Given the description of an element on the screen output the (x, y) to click on. 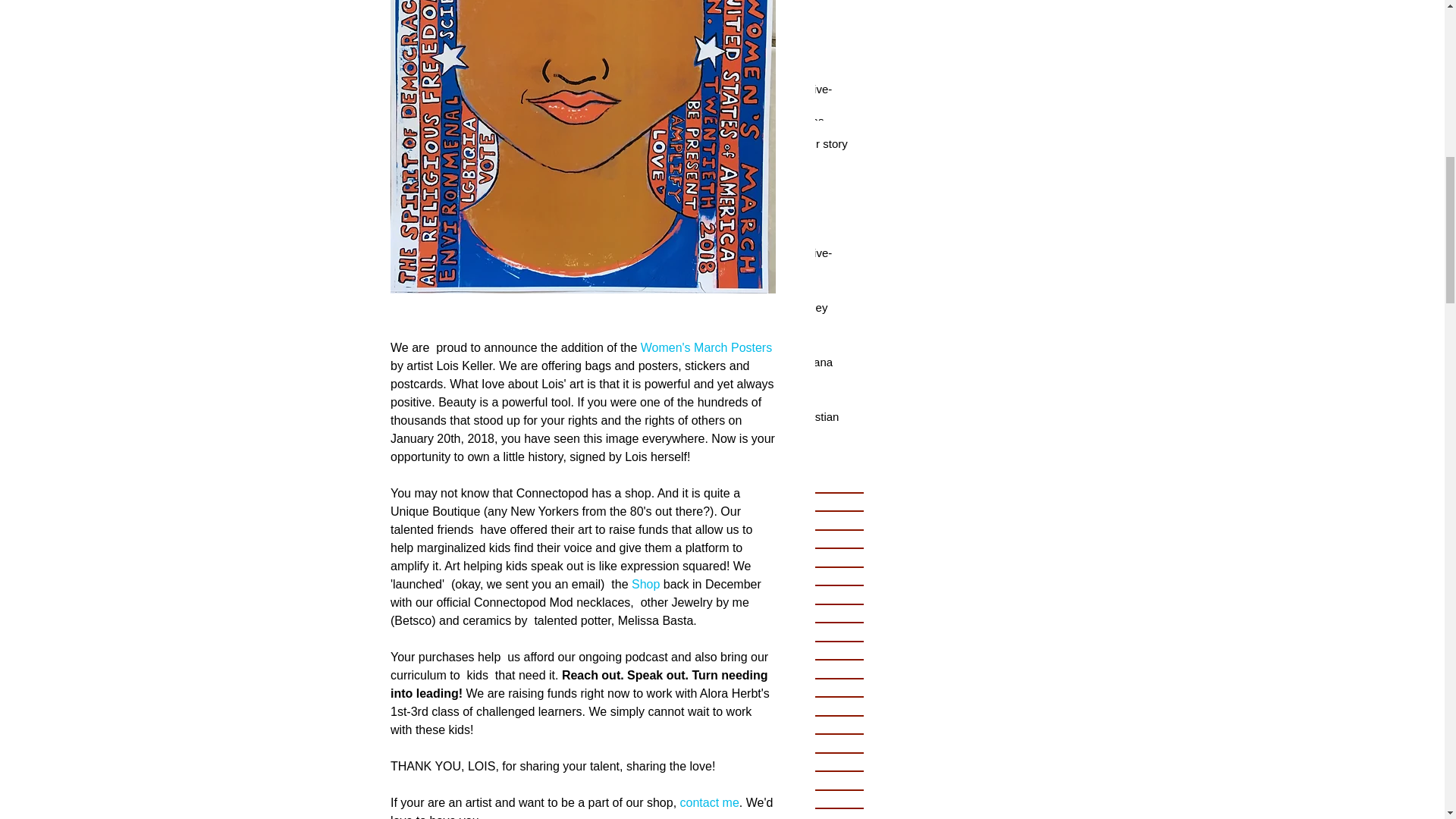
January 2020 (784, 520)
CTN-P What will your story be? (779, 154)
Changing the Narrative-Pacoima (779, 263)
Meet Our Intern Christian Martinez Ayala! (779, 427)
February 2019 (784, 613)
Fight Club (779, 37)
Meet Our Intern Adriana Ramirez! (779, 372)
October 2019 (784, 557)
March 2020 (784, 483)
November 2019 (784, 538)
March 2019 (784, 594)
Meet Our Intern Ashley Martinez! (779, 318)
April 2019 (784, 576)
February 2020 (784, 502)
